Given the description of an element on the screen output the (x, y) to click on. 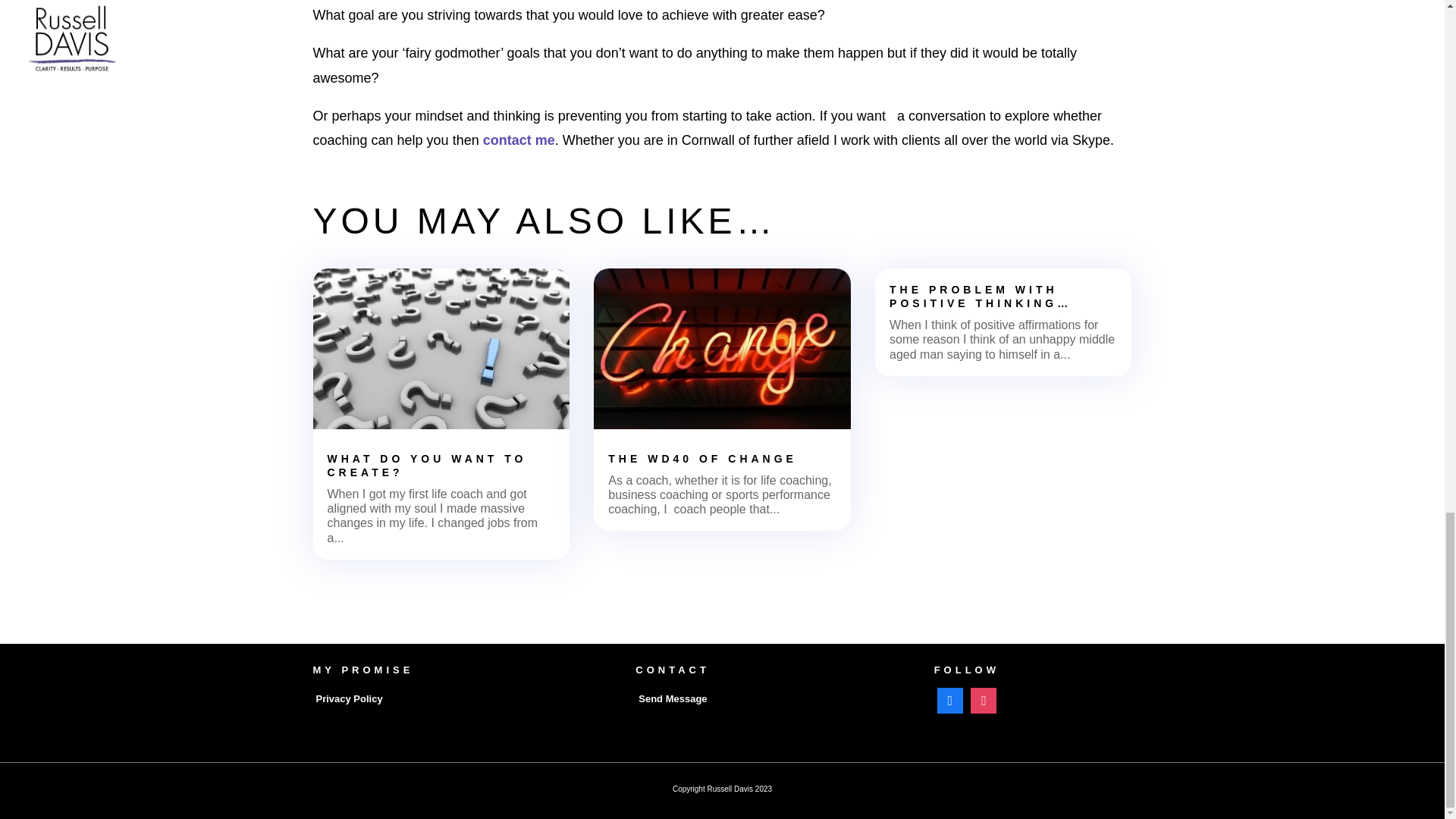
contact me (518, 140)
THE WD40 OF CHANGE (702, 458)
facebook (949, 699)
WHAT DO YOU WANT TO CREATE? (427, 465)
Send Message (672, 698)
instagram (983, 699)
Instagram (983, 699)
Privacy Policy (348, 698)
Facebook (949, 699)
